Given the description of an element on the screen output the (x, y) to click on. 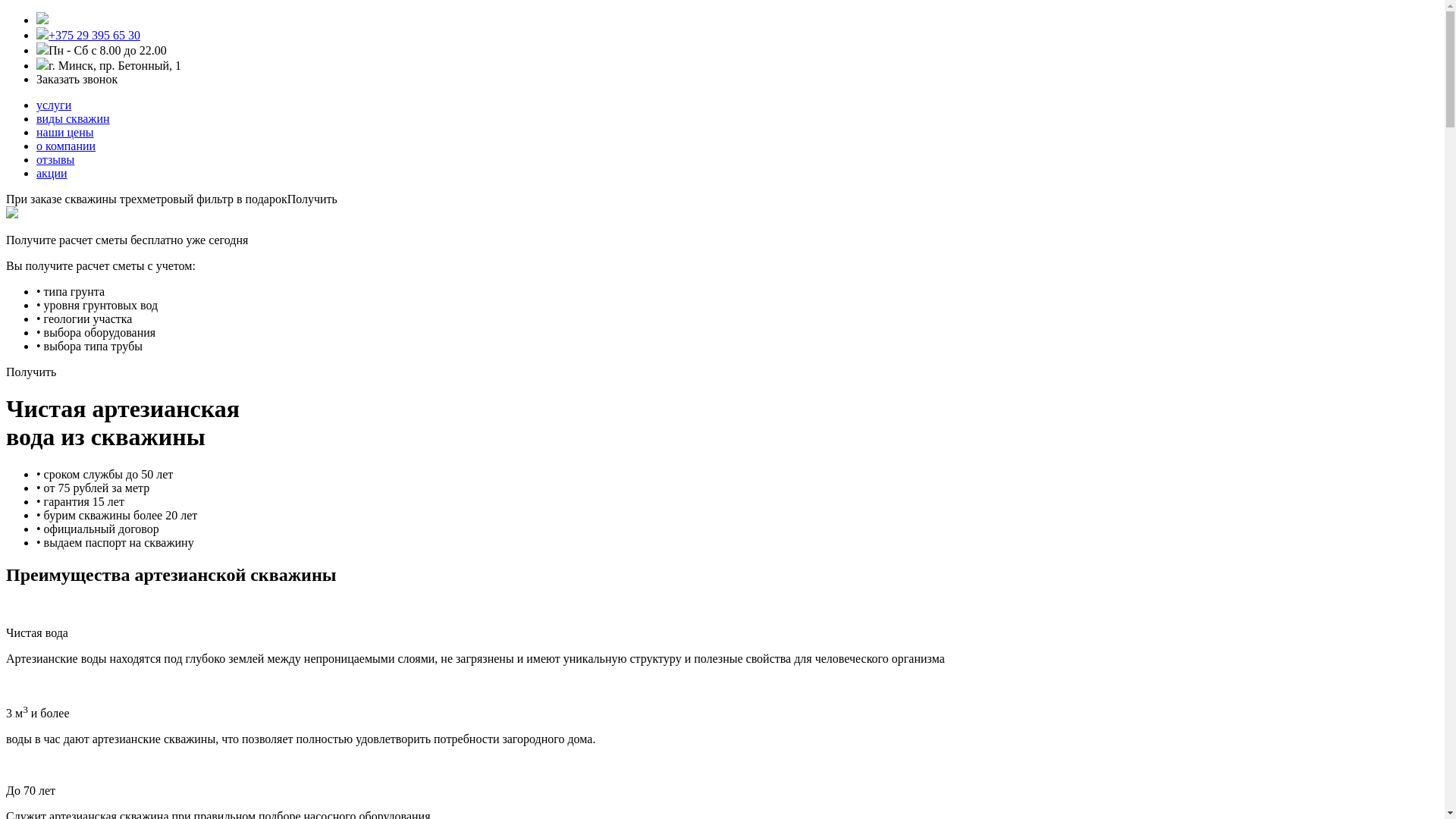
+375 29 395 65 30 Element type: text (94, 34)
